Given the description of an element on the screen output the (x, y) to click on. 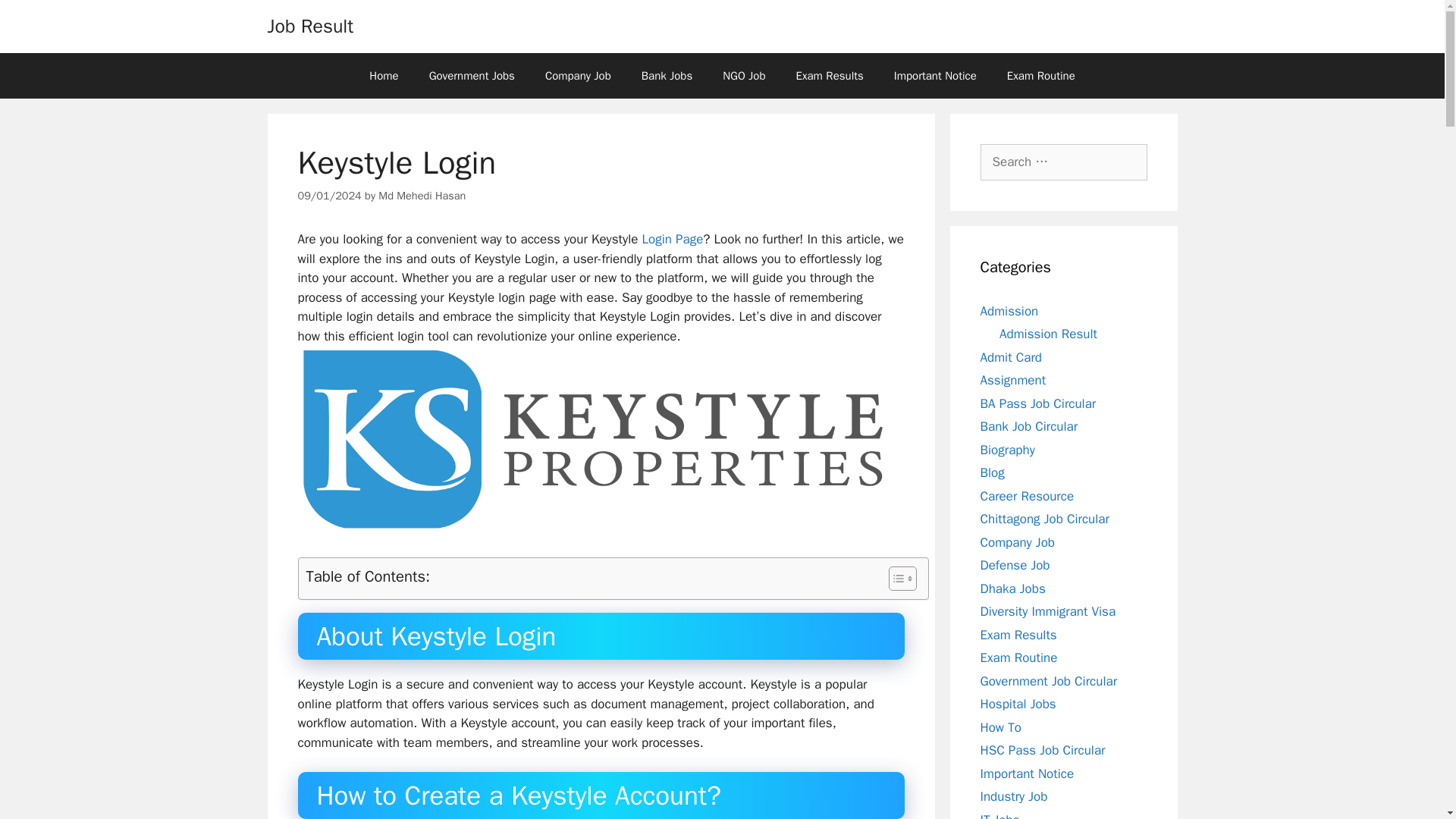
Exam Routine (1040, 75)
View all posts by Md Mehedi Hasan (421, 195)
Government Jobs (471, 75)
Home (383, 75)
Company Job (577, 75)
Job Result (309, 25)
Exam Results (829, 75)
Md Mehedi Hasan (421, 195)
Login Page (672, 238)
Bank Jobs (666, 75)
NGO Job (743, 75)
Important Notice (935, 75)
